Given the description of an element on the screen output the (x, y) to click on. 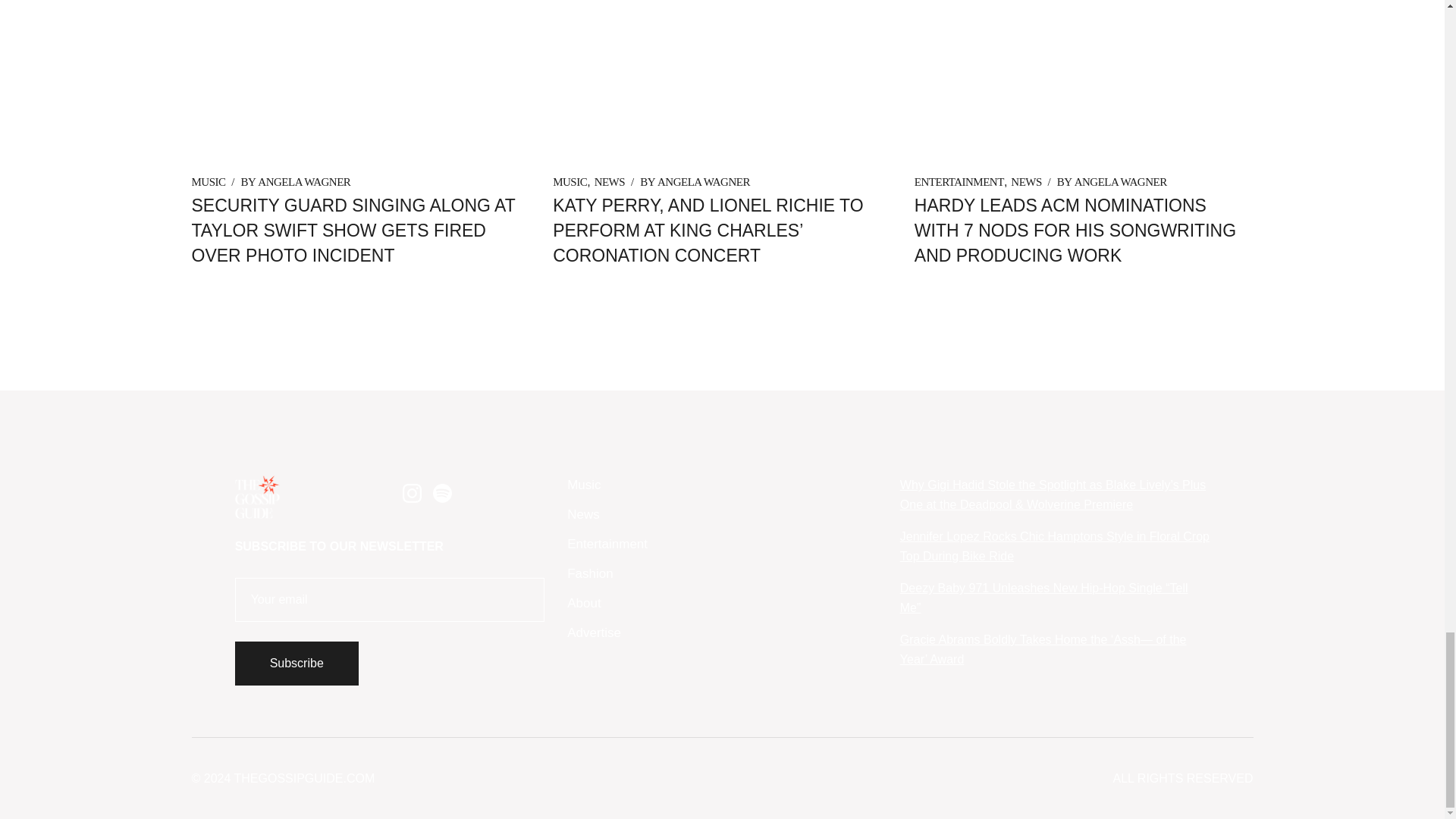
Subscribe (296, 663)
